Given the description of an element on the screen output the (x, y) to click on. 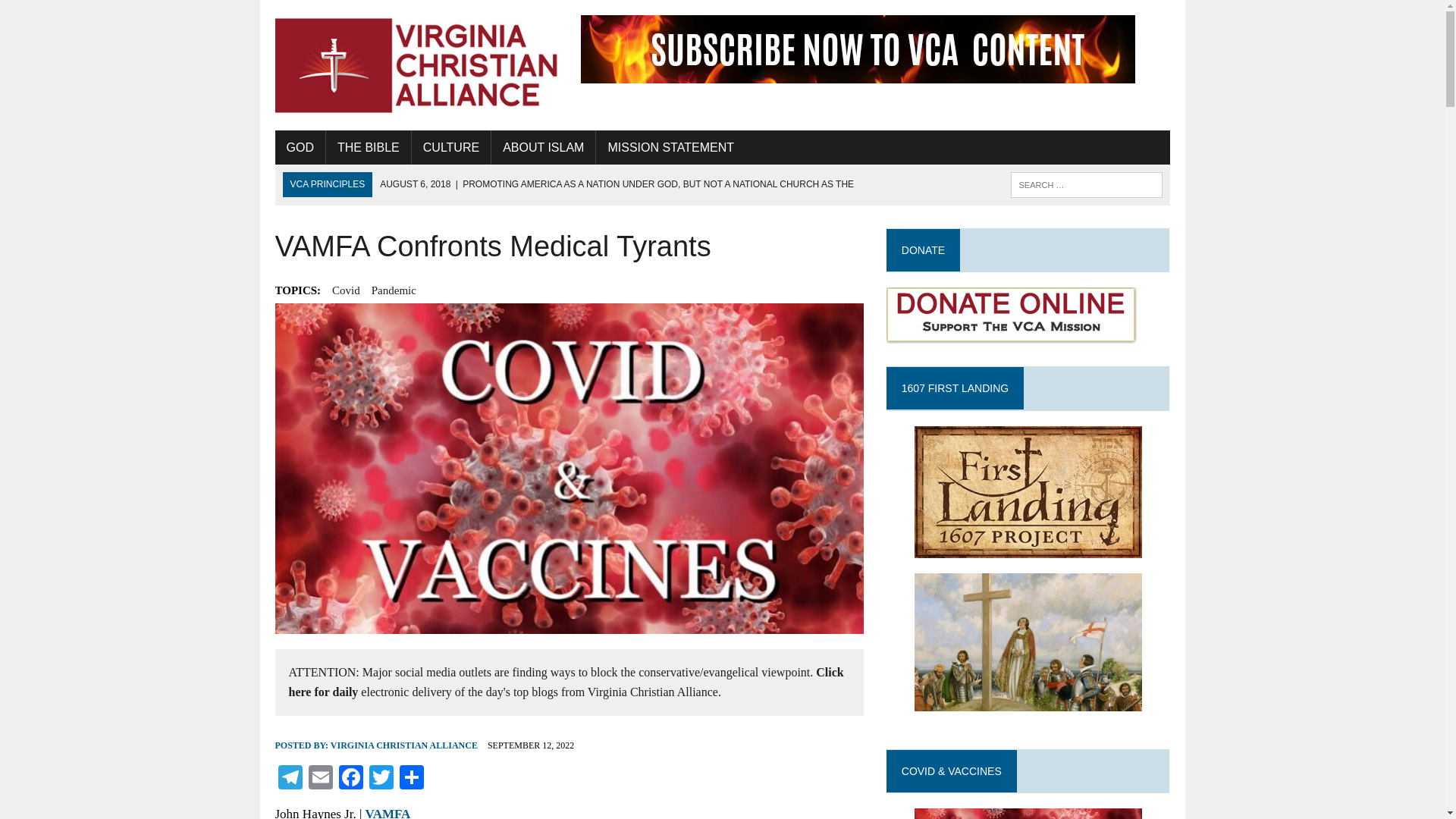
Virginia Christian Alliance (416, 65)
Facebook (349, 778)
ABOUT ISLAM (543, 147)
Twitter (380, 778)
THE BIBLE (368, 147)
GOD (299, 147)
MISSION STATEMENT (670, 147)
CULTURE (451, 147)
Email (319, 778)
Telegram (289, 778)
